Given the description of an element on the screen output the (x, y) to click on. 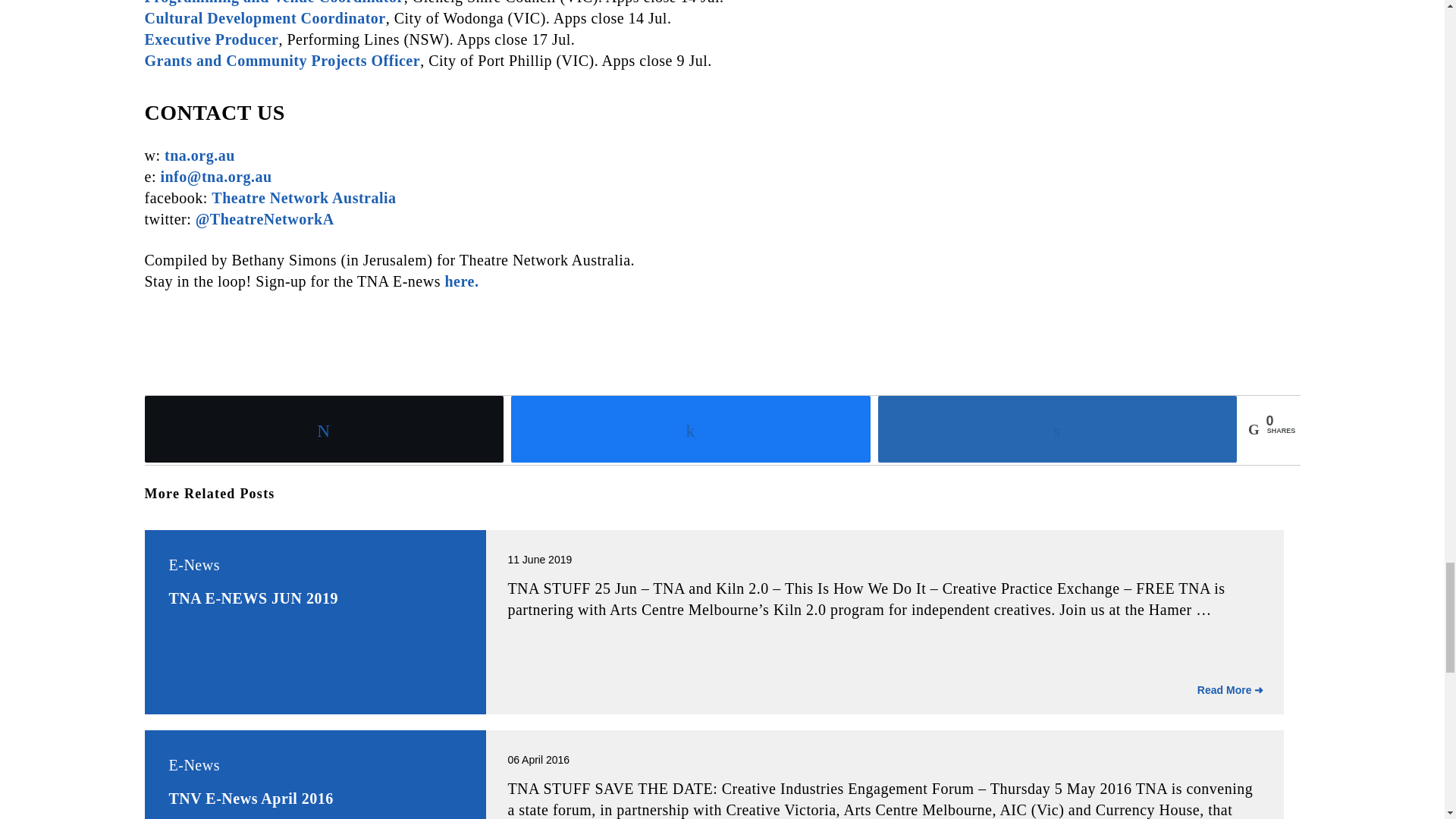
Read More (1230, 690)
